Given the description of an element on the screen output the (x, y) to click on. 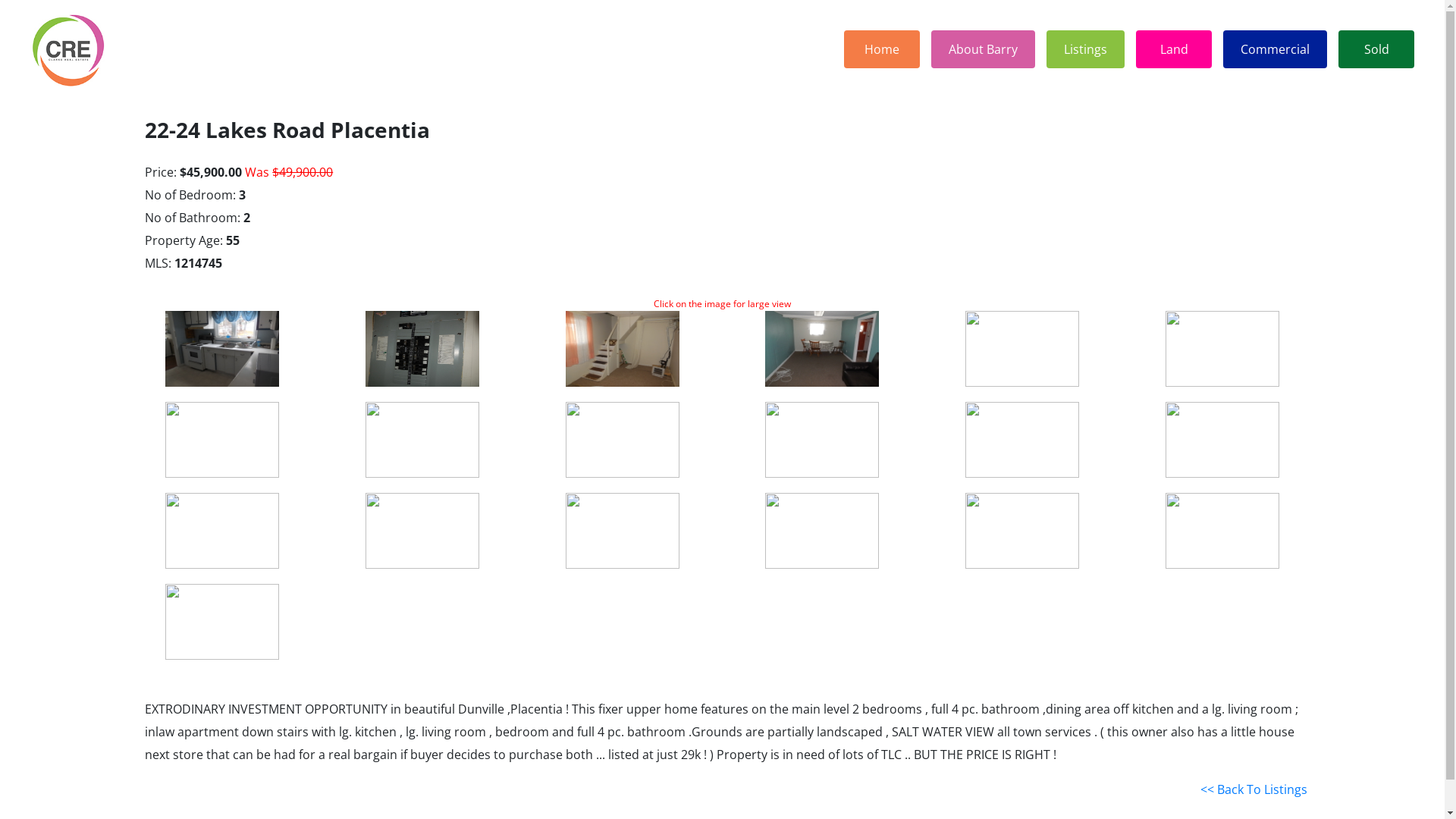
Land Element type: text (1173, 49)
<< Back To Listings Element type: text (1253, 789)
Sold Element type: text (1375, 49)
Commercial Element type: text (1274, 49)
About Barry Element type: text (982, 49)
Home Element type: text (881, 49)
Listings Element type: text (1085, 49)
